Given the description of an element on the screen output the (x, y) to click on. 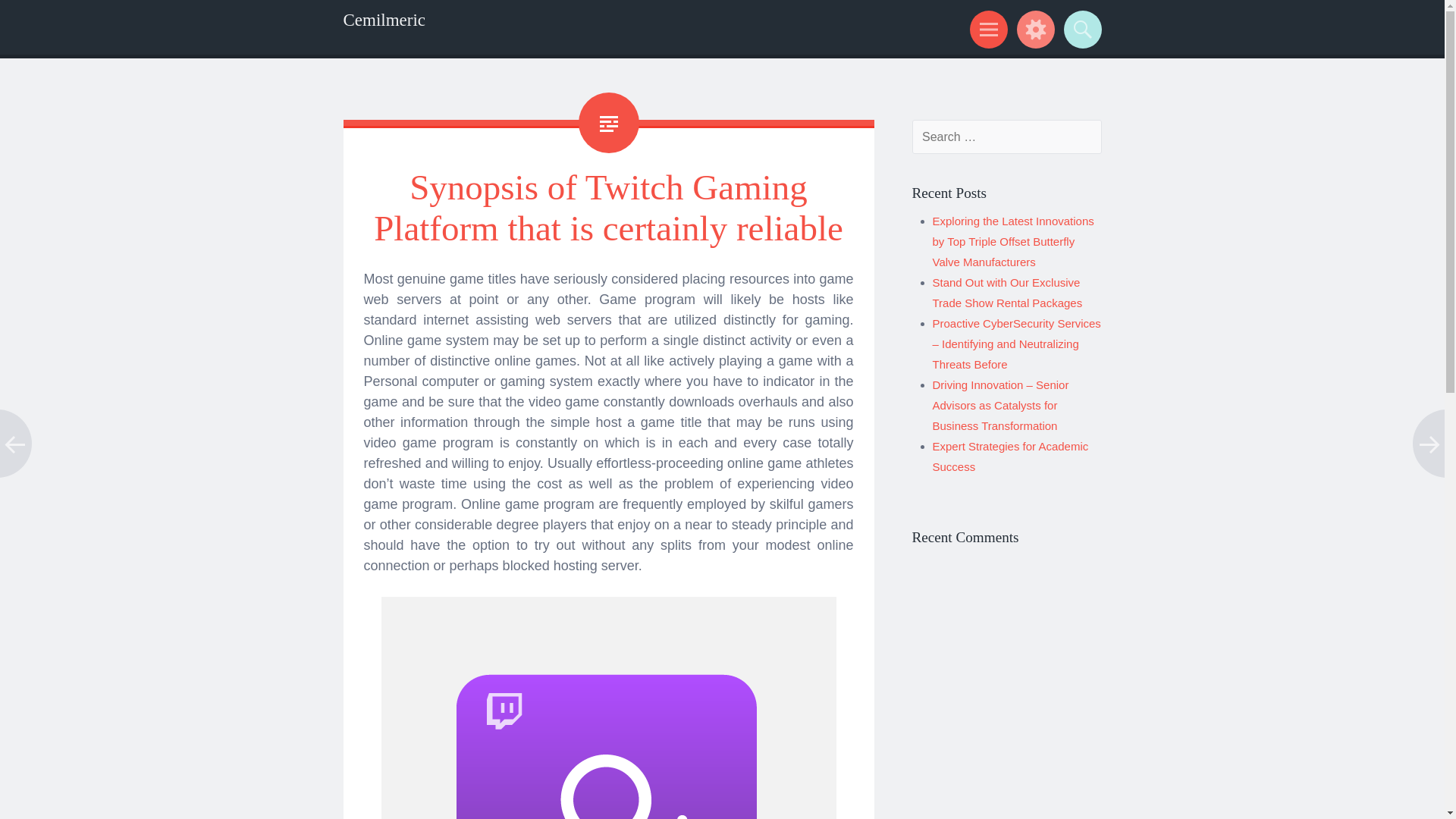
Cemilmeric (383, 19)
Widgets (1032, 29)
Search (1080, 29)
Menu (985, 29)
